Given the description of an element on the screen output the (x, y) to click on. 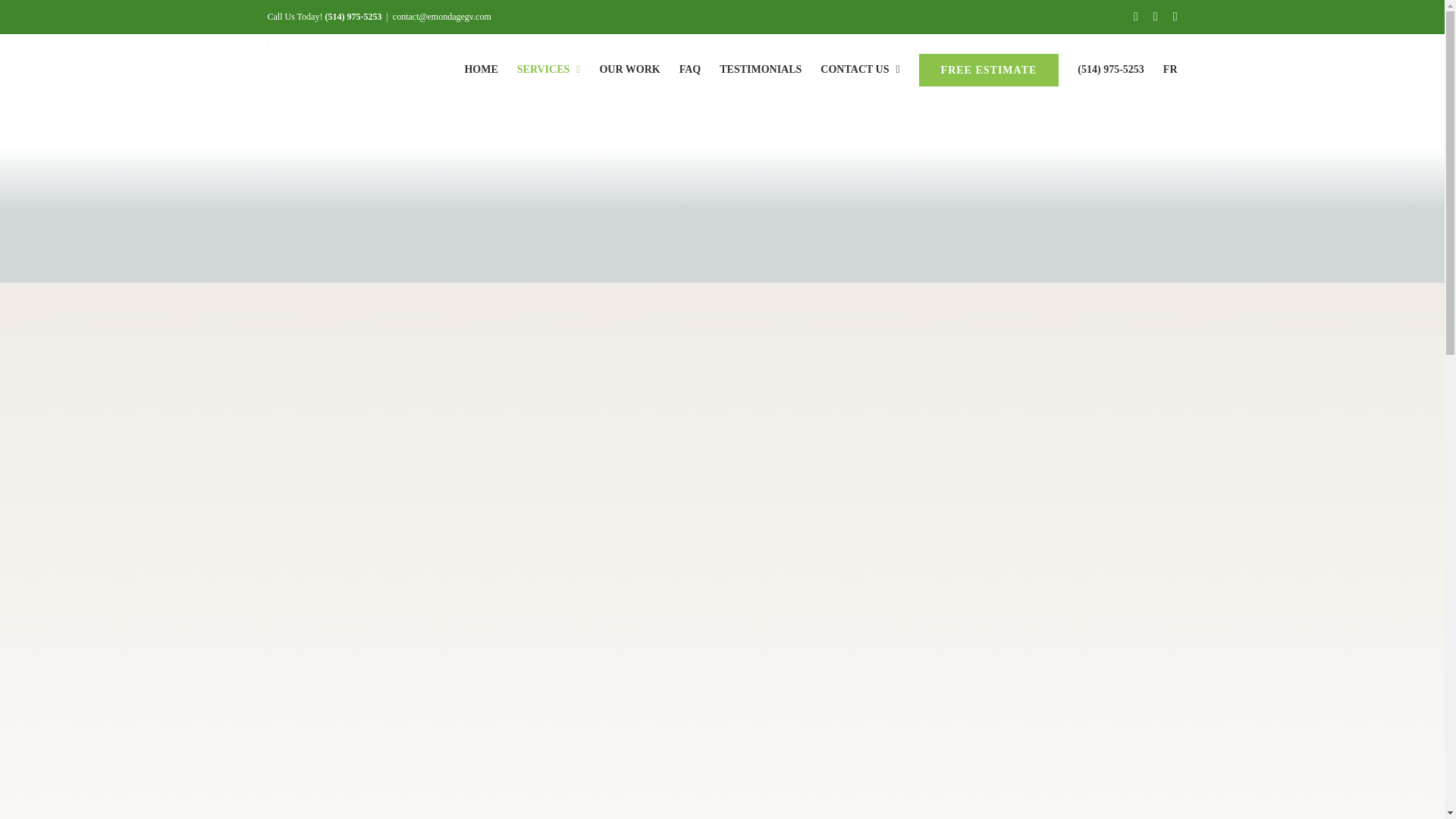
OUR WORK (628, 69)
TESTIMONIALS (760, 69)
CONTACT US (860, 69)
SERVICES (548, 69)
FREE ESTIMATE (988, 69)
